Given the description of an element on the screen output the (x, y) to click on. 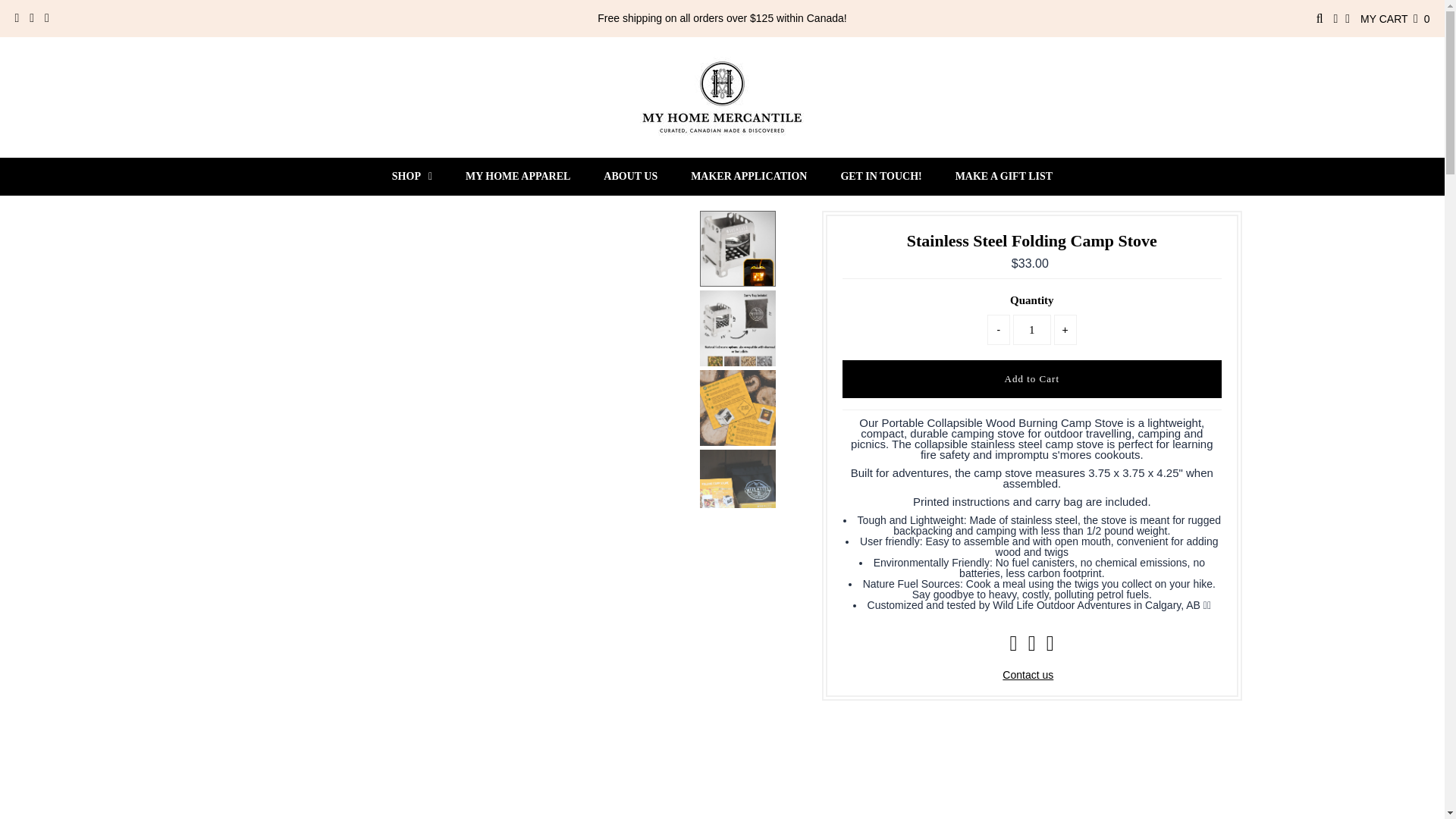
MY HOME APPAREL (517, 176)
GET IN TOUCH! (880, 176)
MAKE A GIFT LIST (1004, 176)
Add to Cart (1032, 379)
SHOP (411, 176)
ABOUT US (630, 176)
MY CART    0 (1394, 19)
MAKER APPLICATION (748, 176)
Add to Cart (1032, 379)
1 (1032, 329)
